Given the description of an element on the screen output the (x, y) to click on. 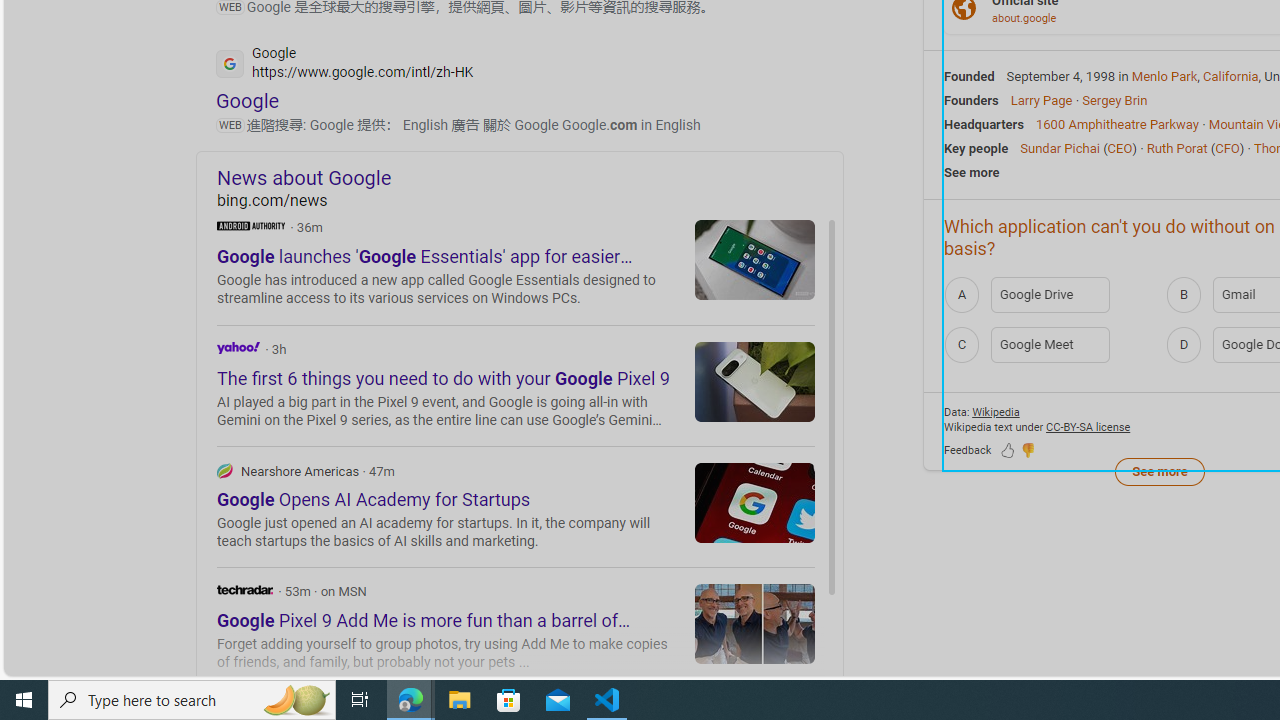
File Explorer (460, 699)
Search highlights icon opens search home window (295, 699)
Type here to search (191, 699)
Task View (359, 699)
Microsoft Store (509, 699)
Visual Studio Code - 1 running window (607, 699)
Start (24, 699)
Microsoft Edge - 2 running windows (411, 699)
